Given the description of an element on the screen output the (x, y) to click on. 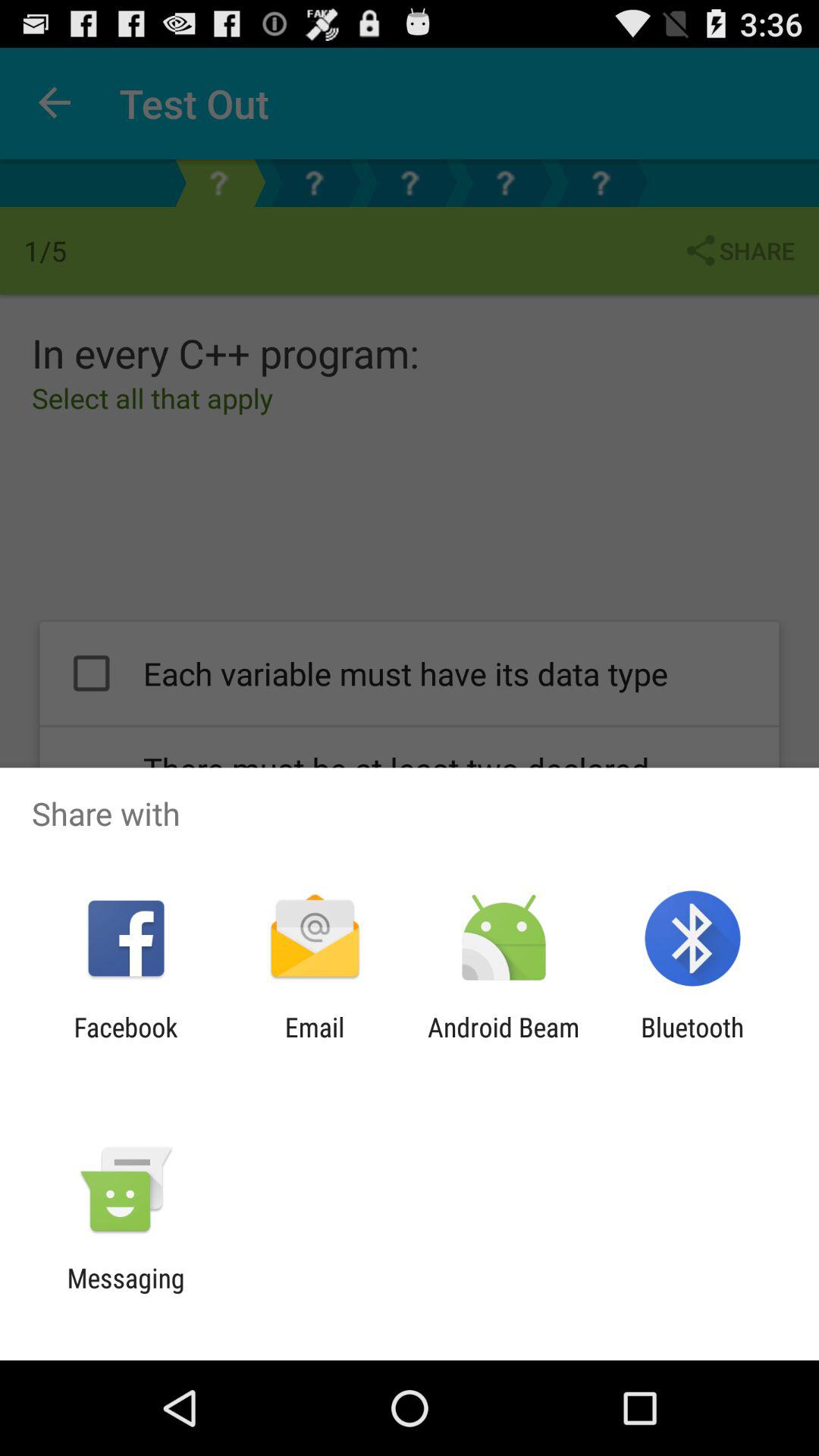
open icon to the left of the bluetooth icon (503, 1042)
